Given the description of an element on the screen output the (x, y) to click on. 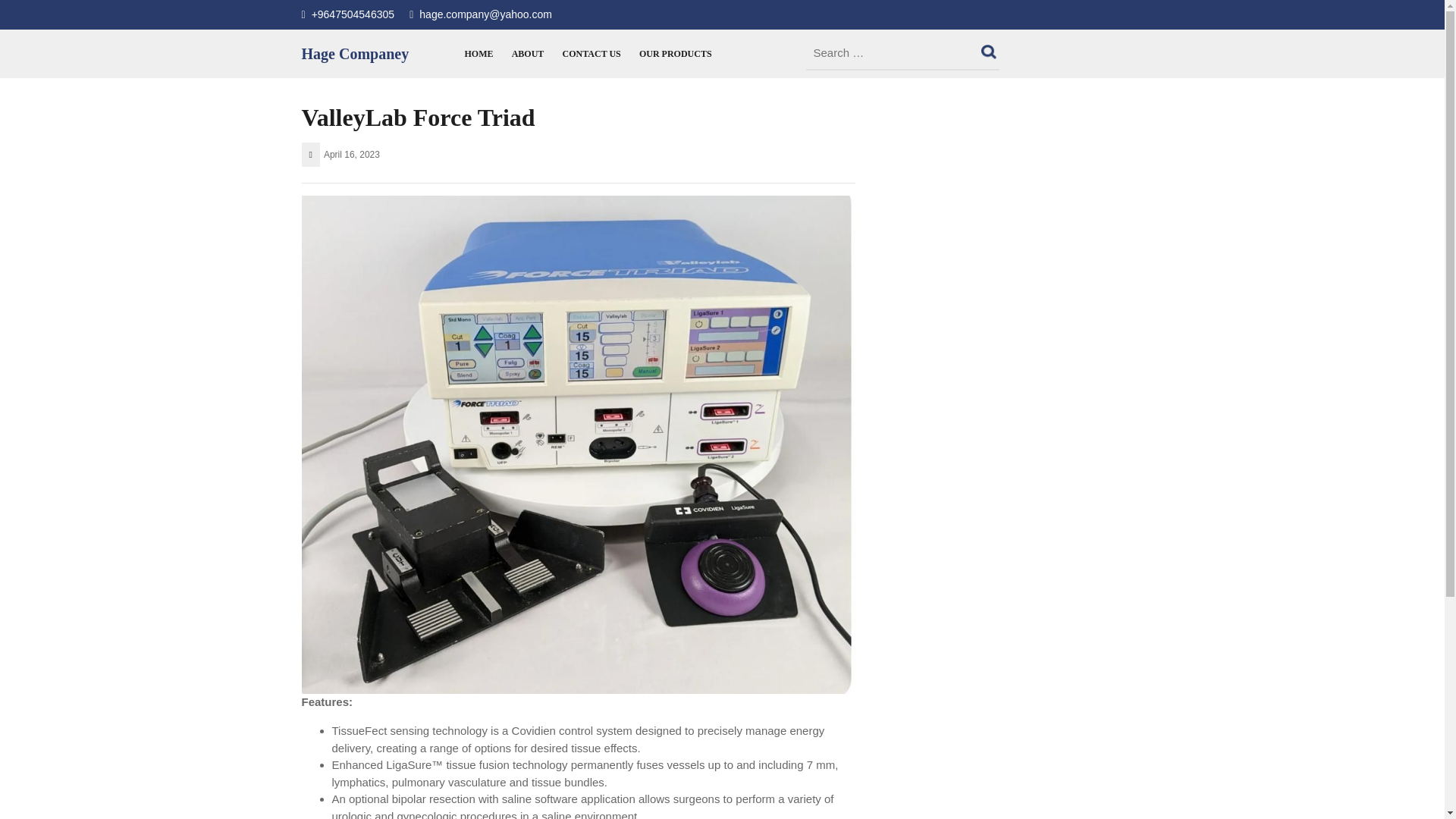
CONTACT US (591, 53)
ABOUT (528, 53)
HOME (478, 53)
Hage Companey (355, 53)
OUR PRODUCTS (675, 53)
